Given the description of an element on the screen output the (x, y) to click on. 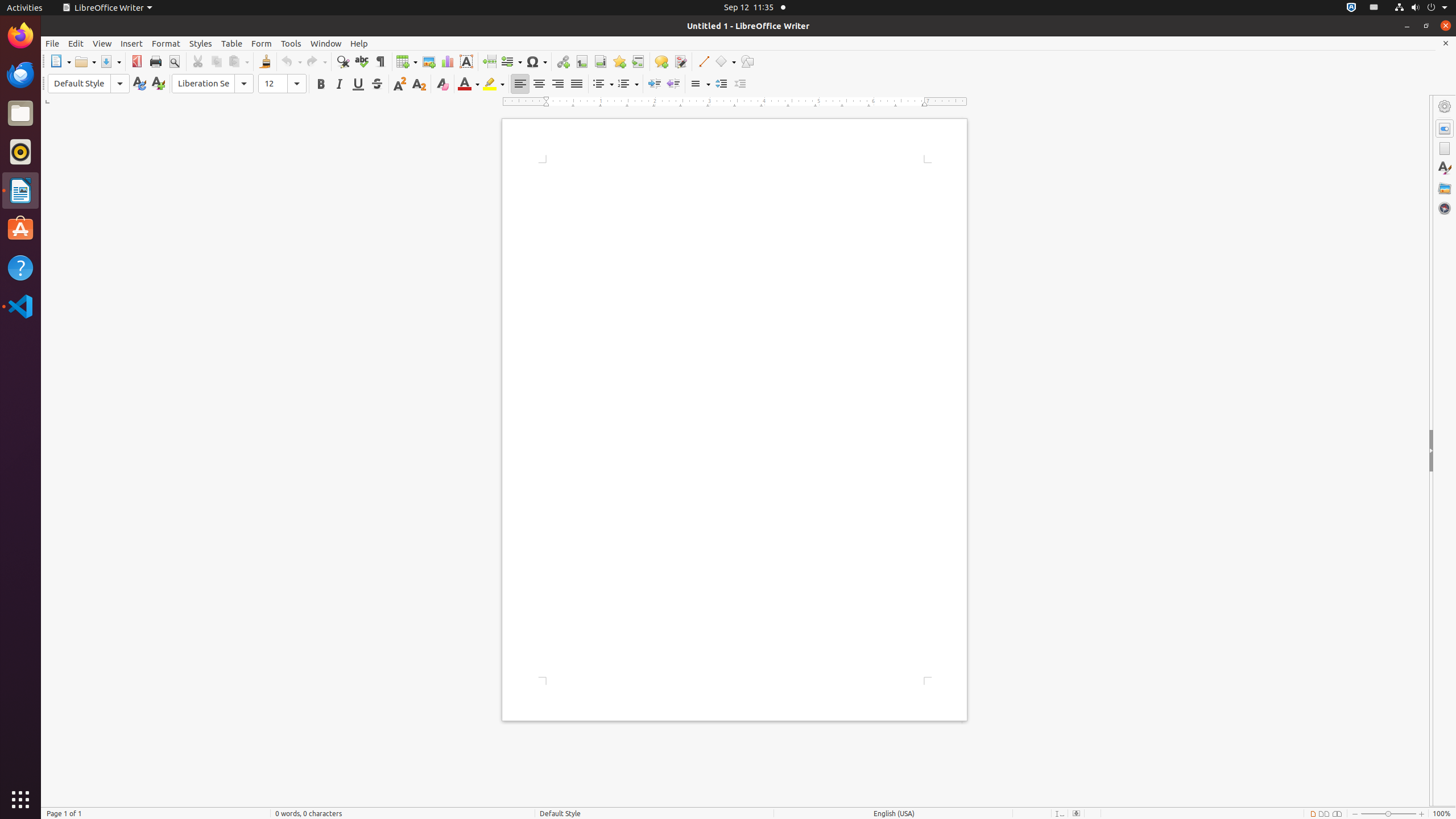
Paste Element type: push-button (237, 61)
Activities Element type: label (24, 7)
Line Element type: toggle-button (702, 61)
Bold Element type: toggle-button (320, 83)
Show Applications Element type: toggle-button (20, 799)
